Given the description of an element on the screen output the (x, y) to click on. 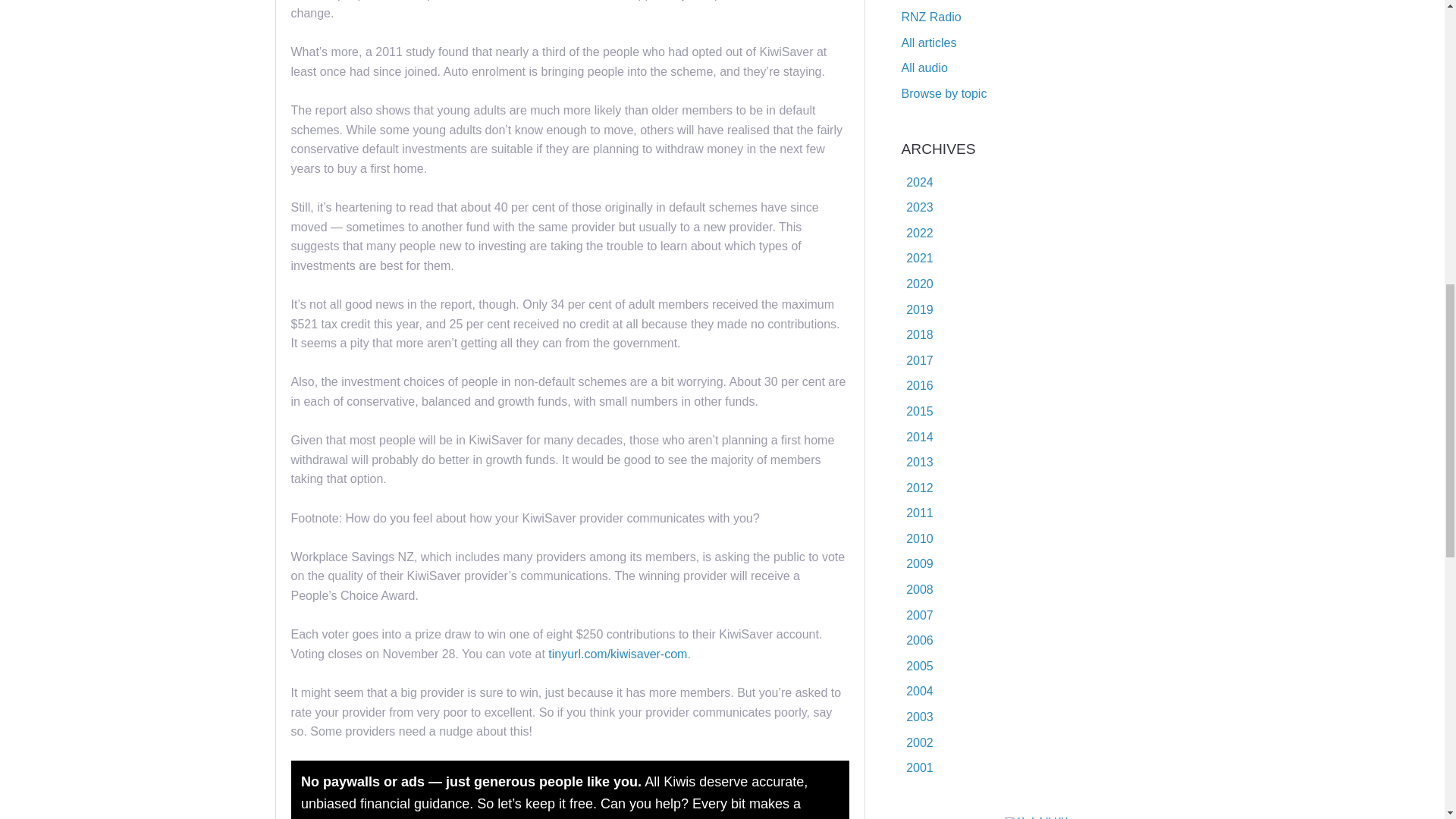
Browse by topic (944, 92)
click to expand (917, 206)
2024 (919, 182)
All articles (928, 42)
RNZ Radio (930, 16)
All audio (924, 67)
click to expand (917, 182)
